Given the description of an element on the screen output the (x, y) to click on. 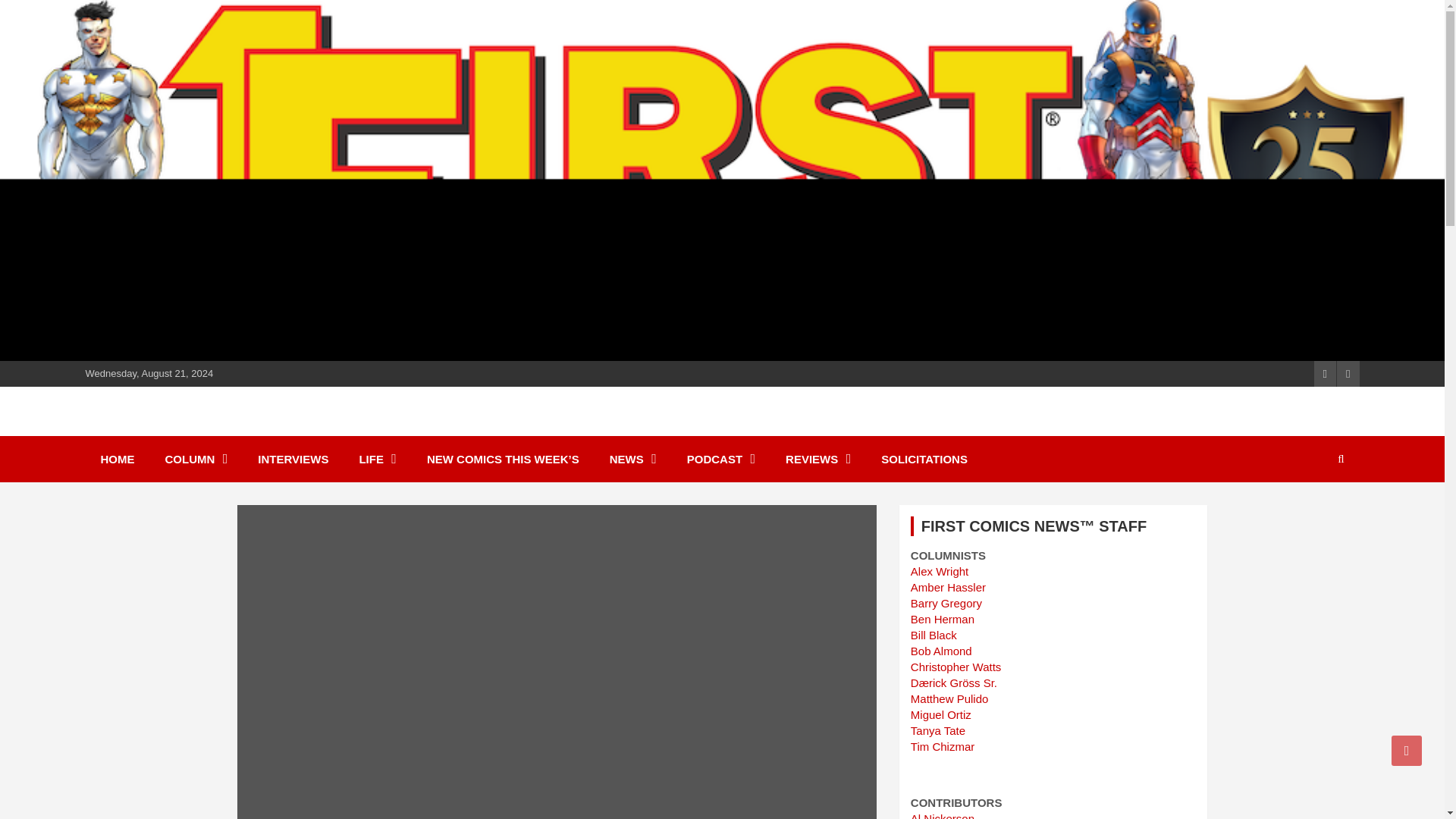
PODCAST (720, 458)
HOME (116, 458)
First Comics News (220, 428)
LIFE (377, 458)
Go to Top (1406, 750)
INTERVIEWS (293, 458)
NEWS (632, 458)
REVIEWS (818, 458)
COLUMN (196, 458)
